Given the description of an element on the screen output the (x, y) to click on. 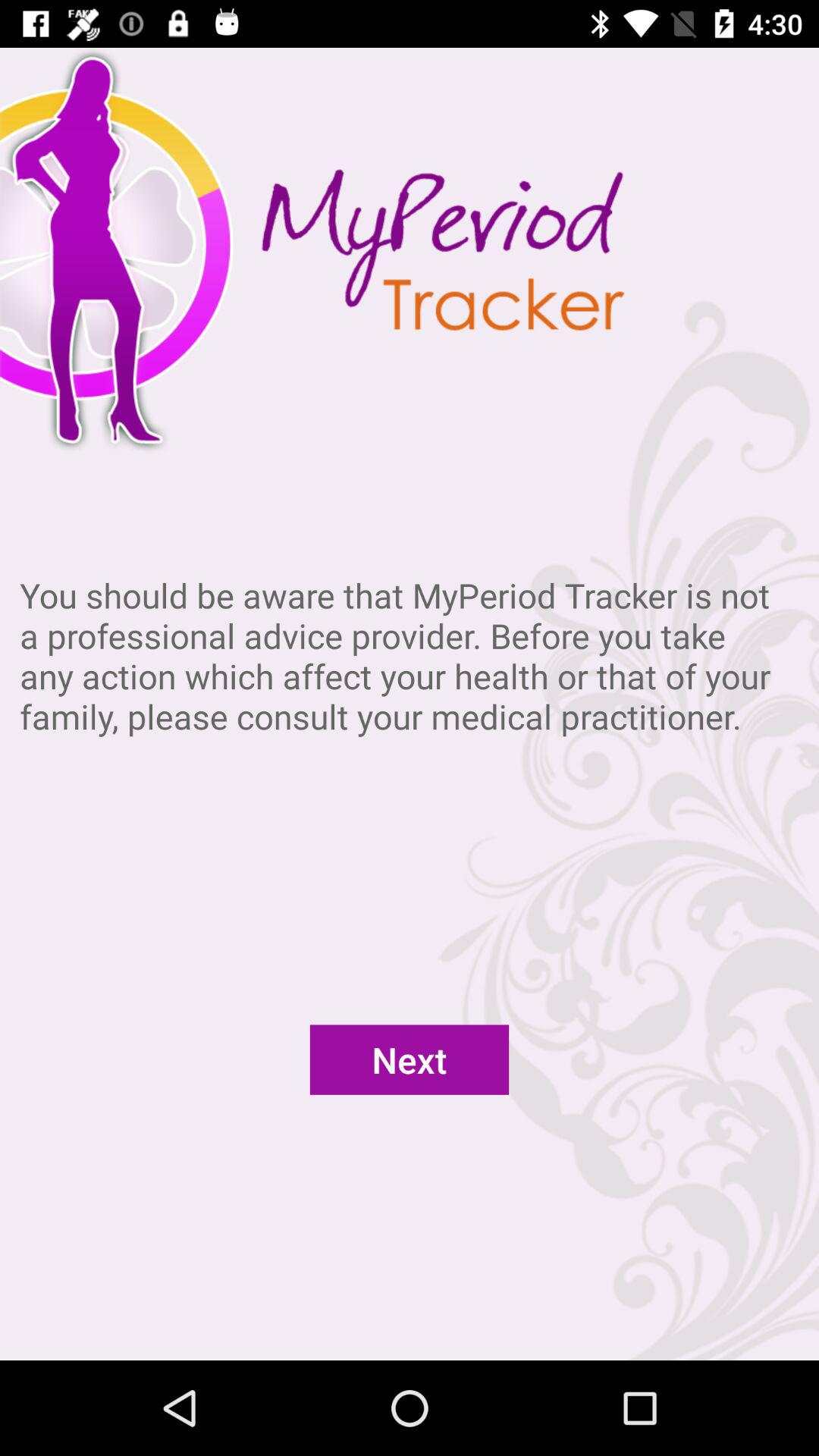
select icon below you should be app (409, 1059)
